Given the description of an element on the screen output the (x, y) to click on. 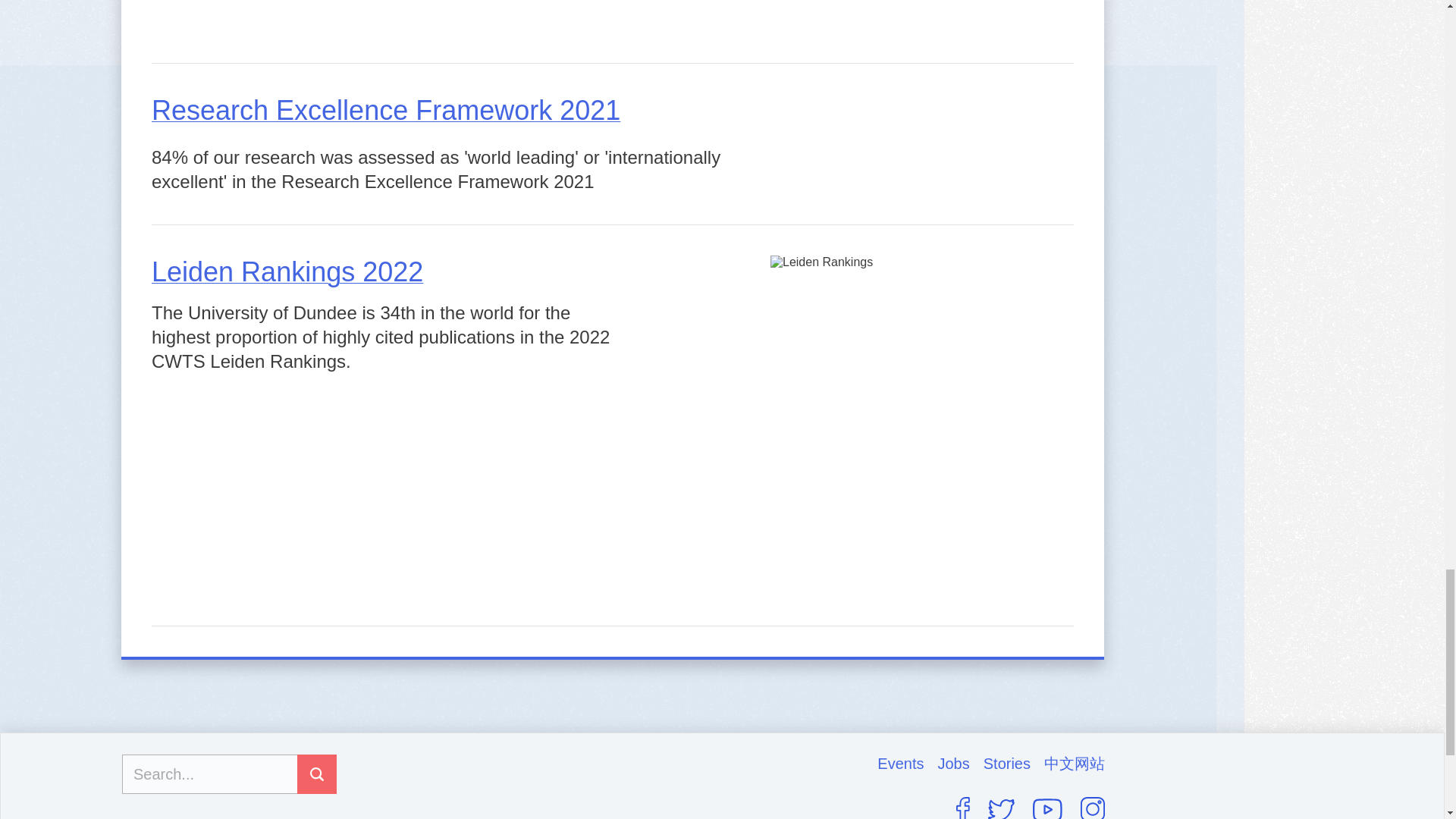
Find events that are happening at the University of Dundee (907, 763)
Explore our Chinese language website  (1074, 763)
Twitter (1001, 809)
Instagram (1092, 807)
Youtube (1047, 808)
